Given the description of an element on the screen output the (x, y) to click on. 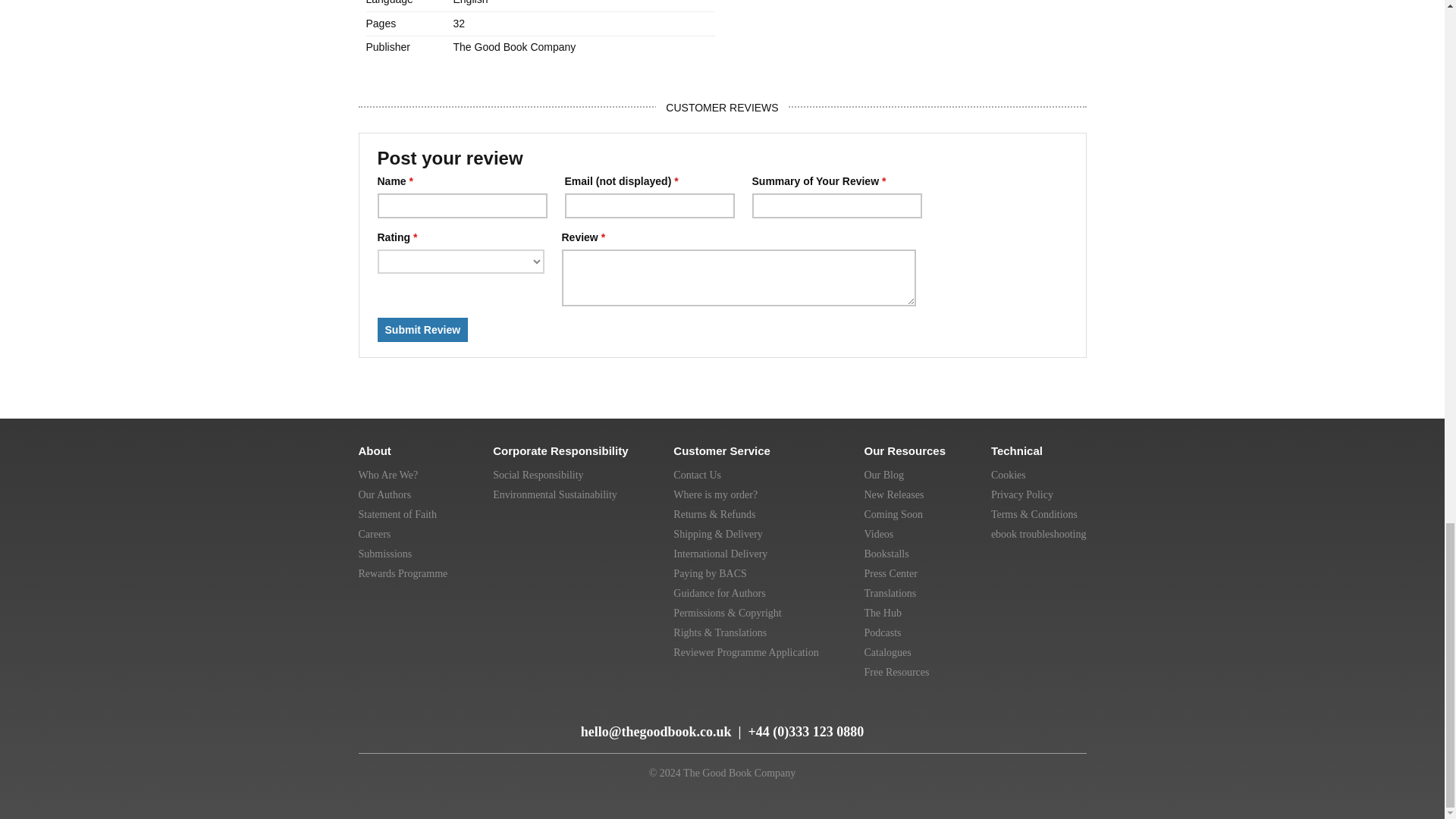
Subscribe to feed (371, 725)
Go to New Zealand Website (1039, 715)
Go to Australia Website (1006, 715)
Go to US Website (972, 715)
Go to UK Website (937, 715)
Go to South Africa Website (1071, 715)
Submit Review (422, 329)
